Given the description of an element on the screen output the (x, y) to click on. 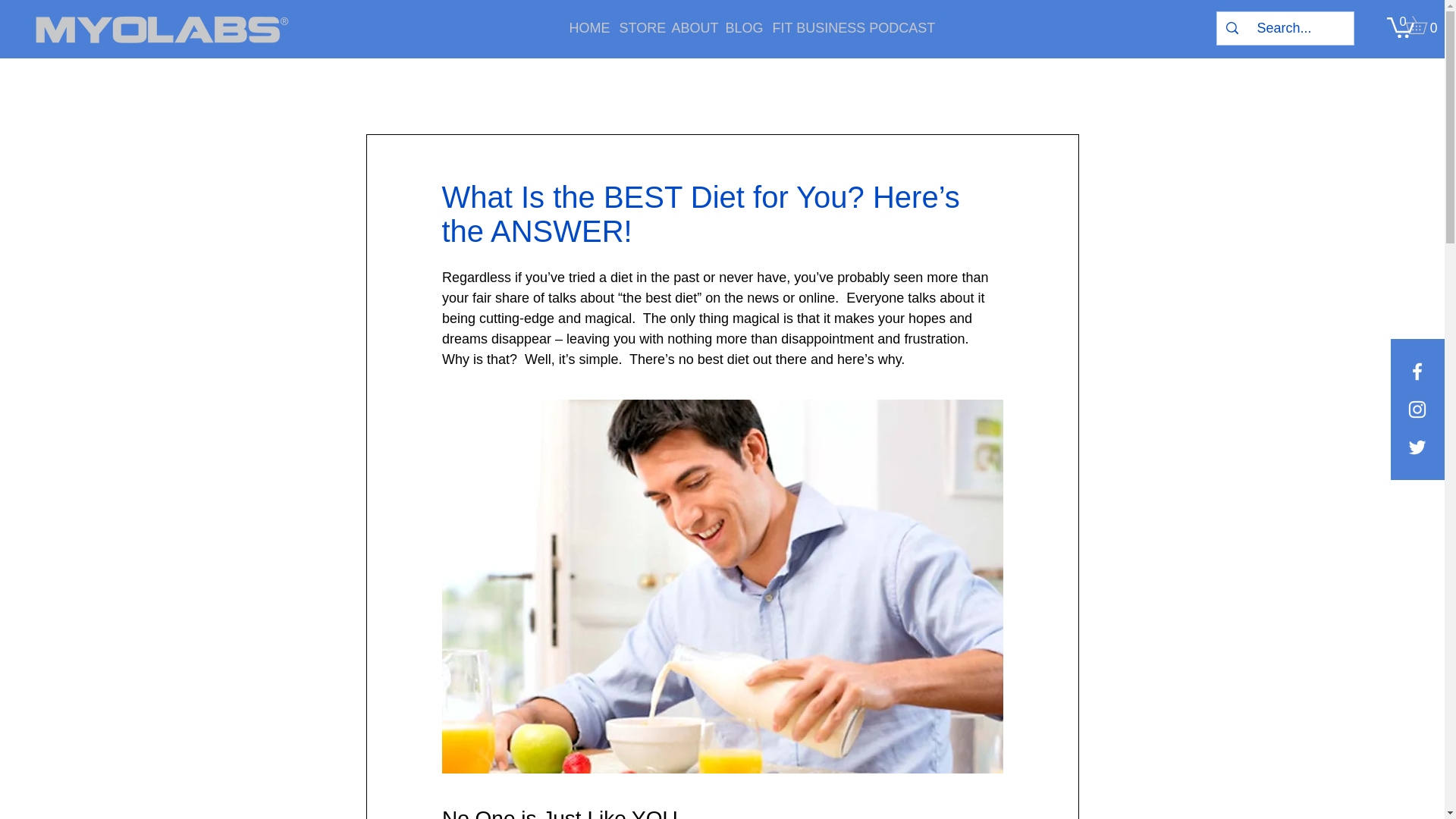
BLOG (737, 28)
FIT BUSINESS PODCAST (823, 28)
HOME (582, 28)
0 (1400, 26)
STORE (634, 28)
0 (1400, 26)
0 (1424, 24)
ABOUT (686, 28)
0 (1424, 24)
